Given the description of an element on the screen output the (x, y) to click on. 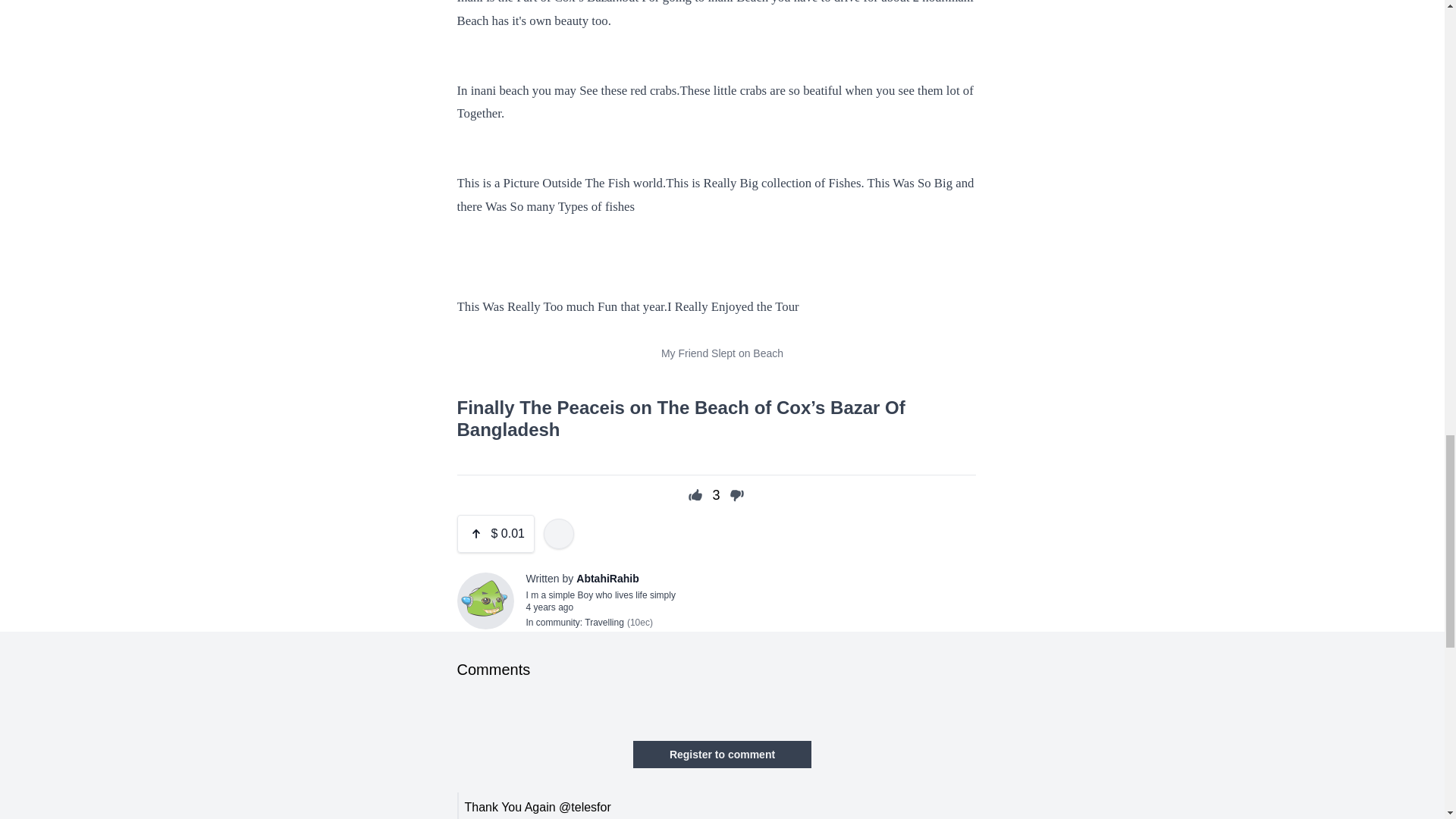
Register to comment (721, 754)
community (557, 622)
AbtahiRahib (607, 578)
